Given the description of an element on the screen output the (x, y) to click on. 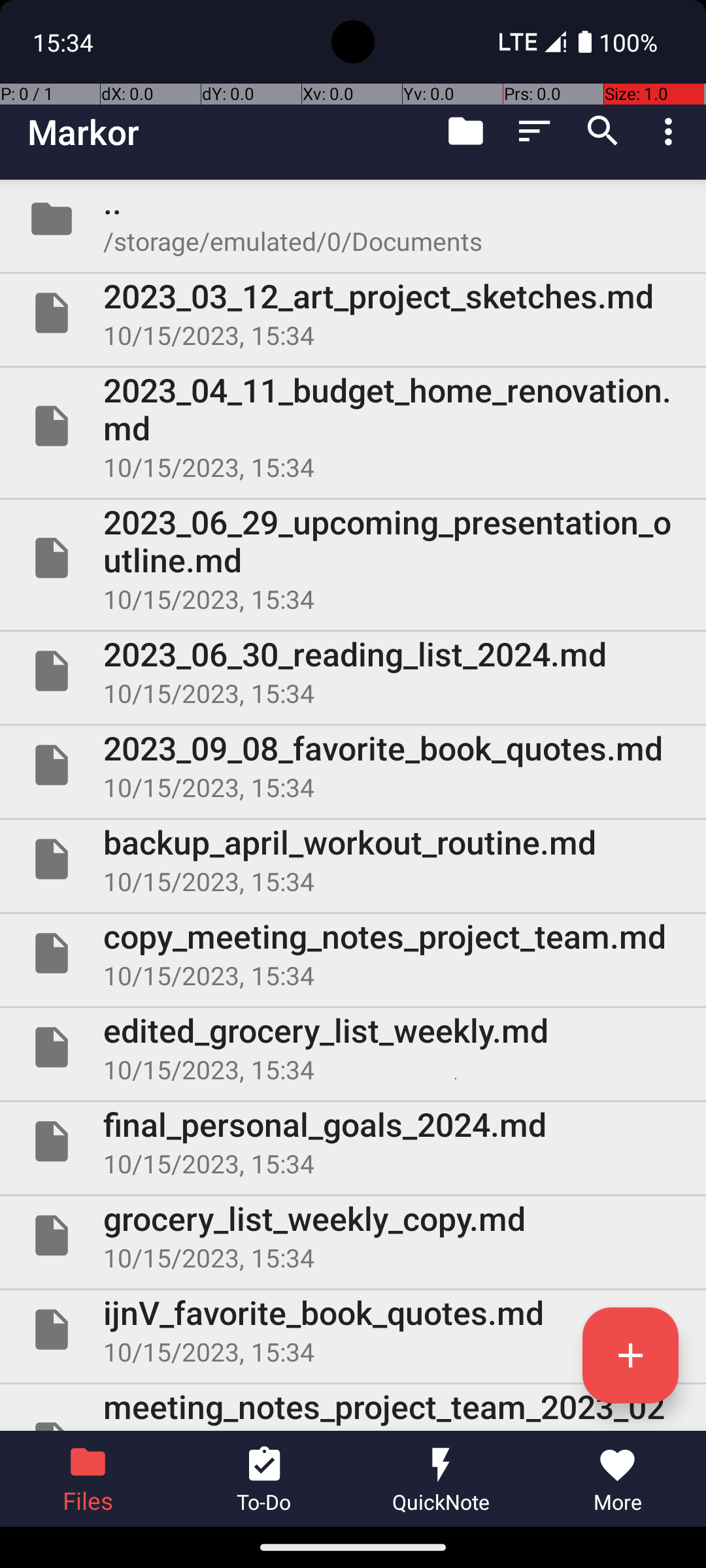
File 2023_03_12_art_project_sketches.md  Element type: android.widget.LinearLayout (353, 312)
File 2023_04_11_budget_home_renovation.md  Element type: android.widget.LinearLayout (353, 425)
File 2023_06_29_upcoming_presentation_outline.md  Element type: android.widget.LinearLayout (353, 557)
File 2023_06_30_reading_list_2024.md  Element type: android.widget.LinearLayout (353, 670)
File 2023_09_08_favorite_book_quotes.md  Element type: android.widget.LinearLayout (353, 764)
File backup_april_workout_routine.md  Element type: android.widget.LinearLayout (353, 858)
File copy_meeting_notes_project_team.md  Element type: android.widget.LinearLayout (353, 953)
File edited_grocery_list_weekly.md  Element type: android.widget.LinearLayout (353, 1047)
File final_personal_goals_2024.md  Element type: android.widget.LinearLayout (353, 1141)
File grocery_list_weekly_copy.md  Element type: android.widget.LinearLayout (353, 1235)
File ijnV_favorite_book_quotes.md  Element type: android.widget.LinearLayout (353, 1329)
File meeting_notes_project_team_2023_02_07.md  Element type: android.widget.LinearLayout (353, 1407)
